Given the description of an element on the screen output the (x, y) to click on. 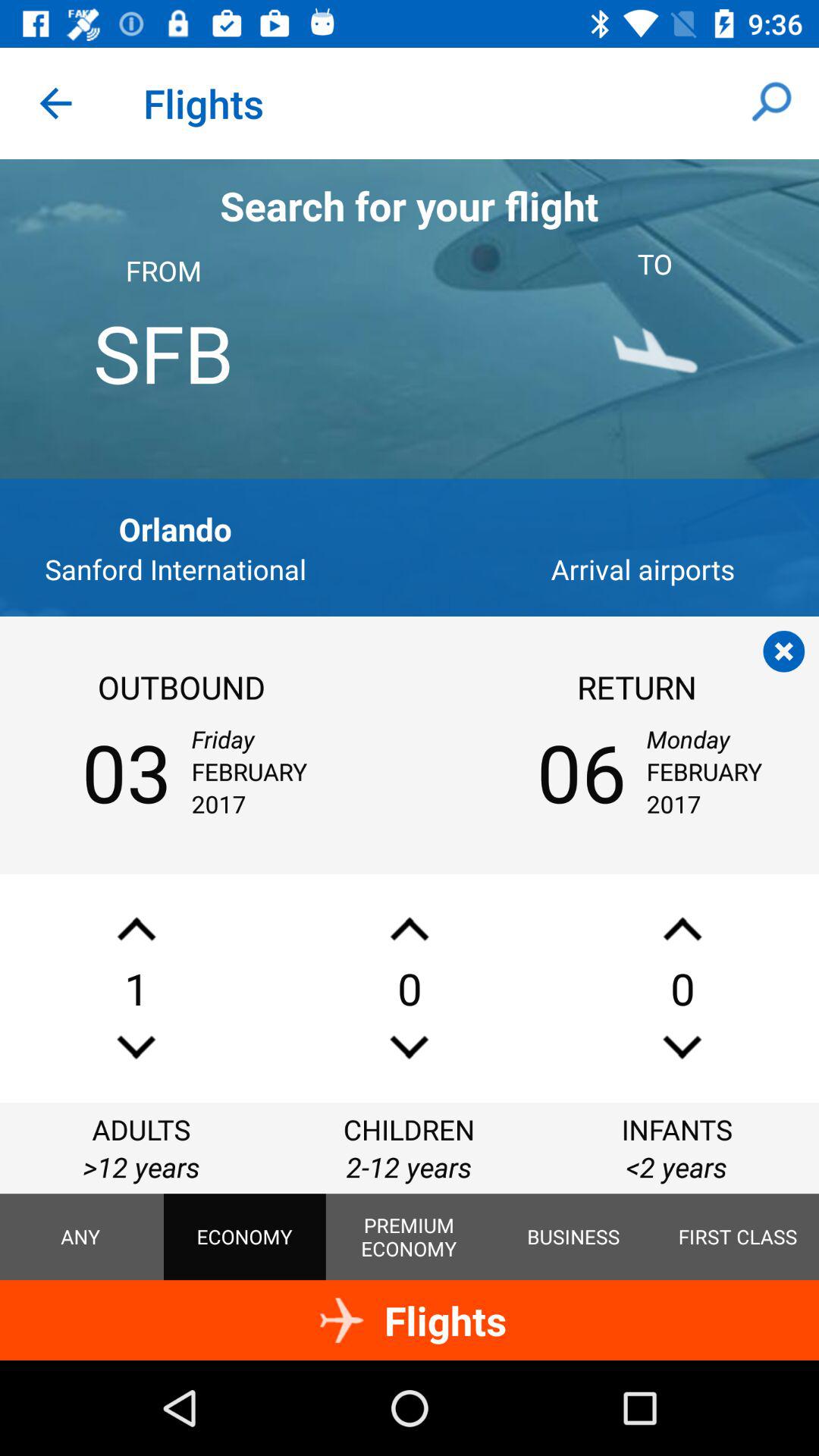
tap item to the left of flights app (55, 103)
